Given the description of an element on the screen output the (x, y) to click on. 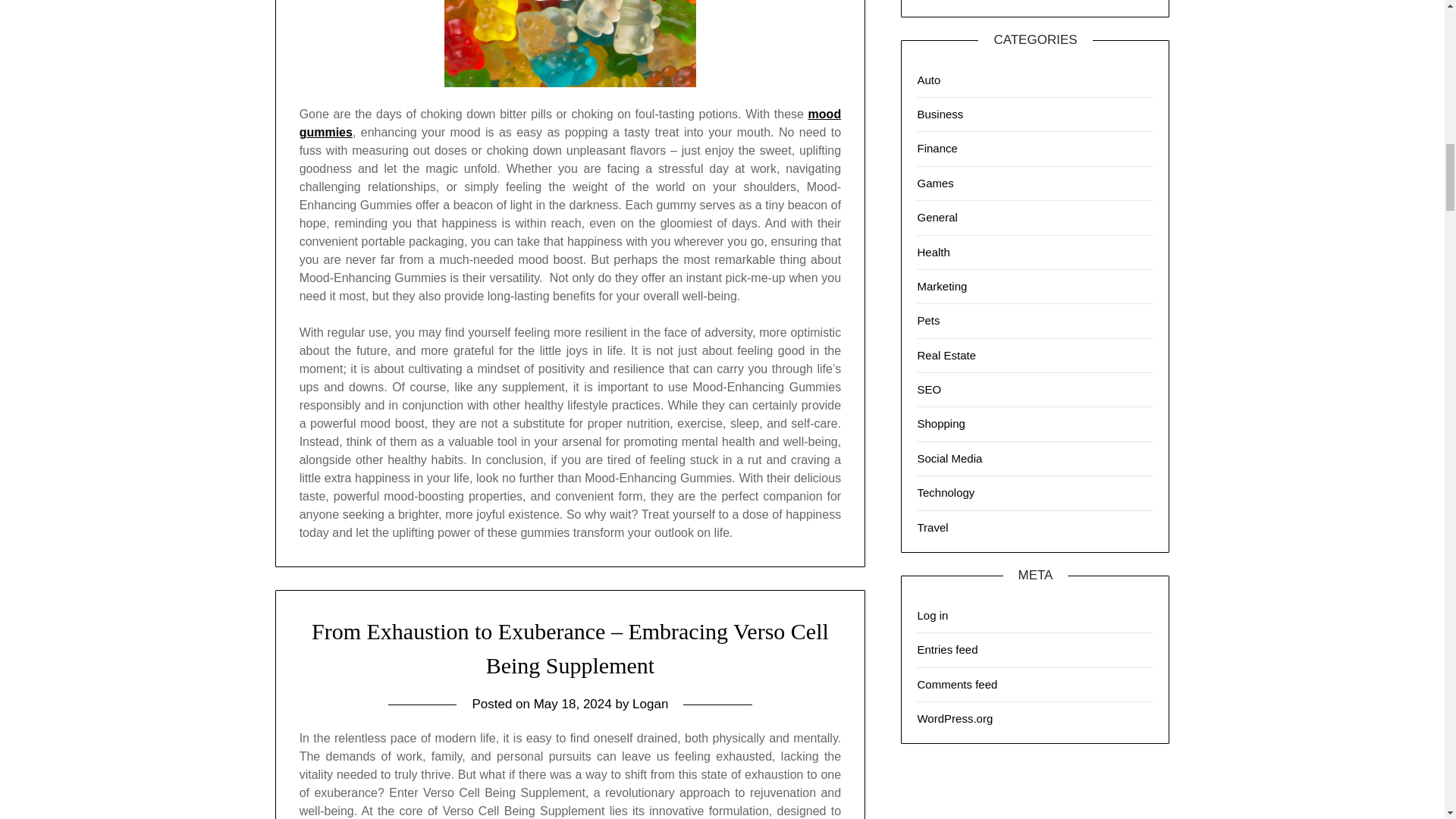
Logan (649, 703)
May 18, 2024 (572, 703)
mood gummies (570, 122)
